Given the description of an element on the screen output the (x, y) to click on. 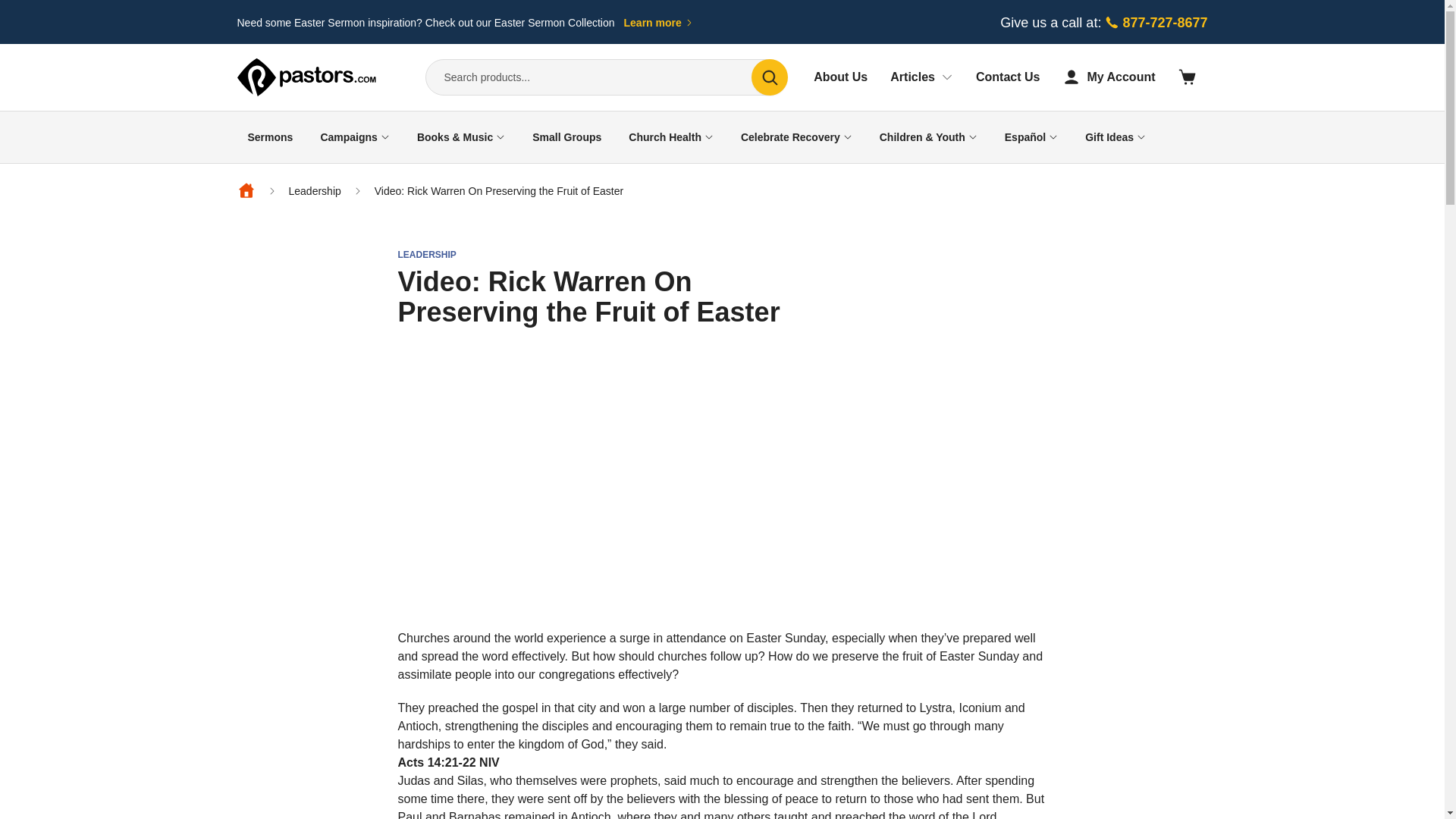
Learn more (659, 22)
877-727-8677 (1155, 22)
